Given the description of an element on the screen output the (x, y) to click on. 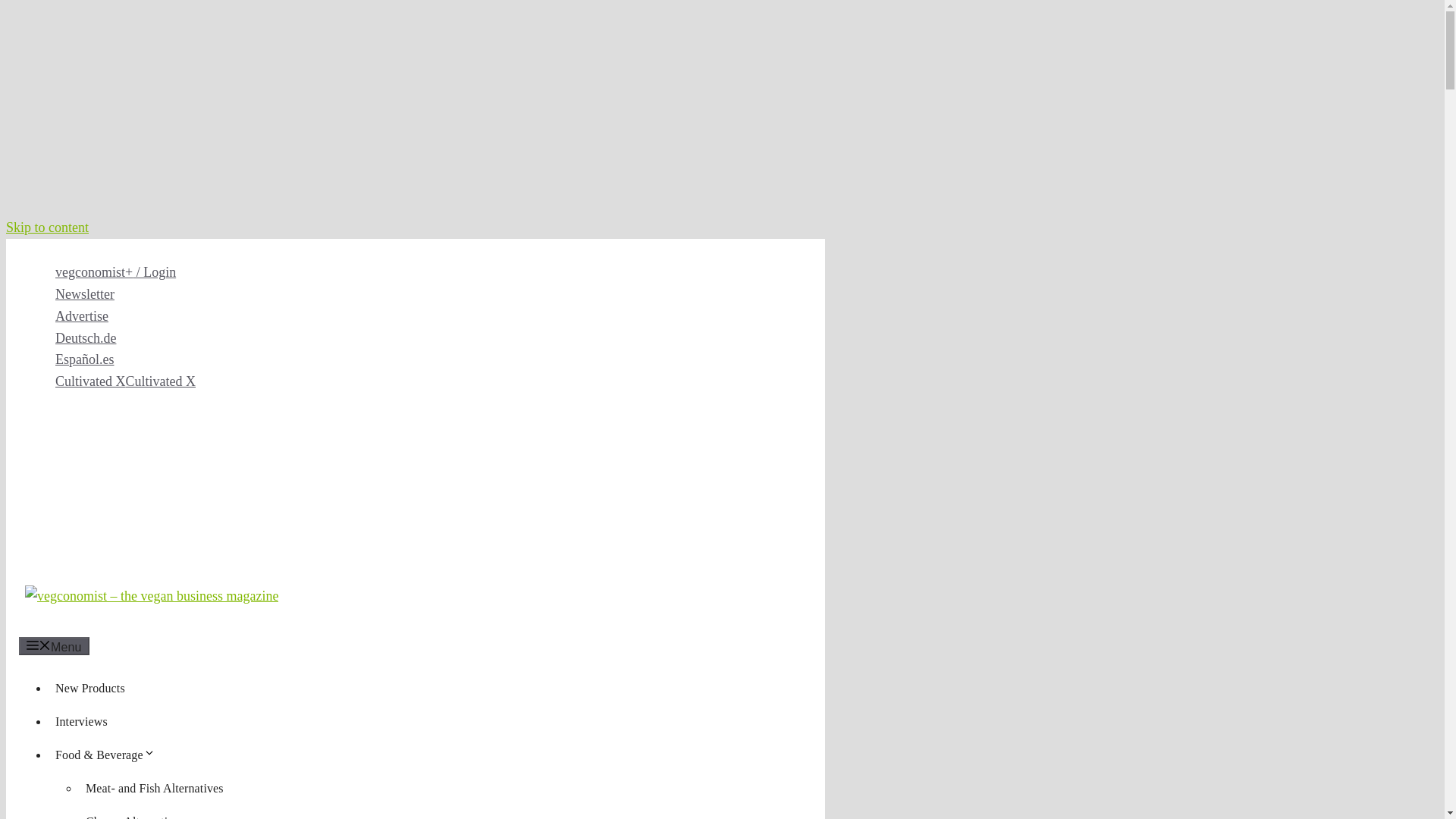
Interviews (81, 721)
Menu (53, 646)
Skip to content (46, 227)
New Products (90, 687)
Deutsch.de (85, 337)
Skip to content (46, 227)
Cheese Alternatives (135, 814)
Meat- and Fish Alternatives (155, 788)
Cultivated XCultivated X (125, 381)
Advertise (81, 315)
Newsletter (85, 294)
